Given the description of an element on the screen output the (x, y) to click on. 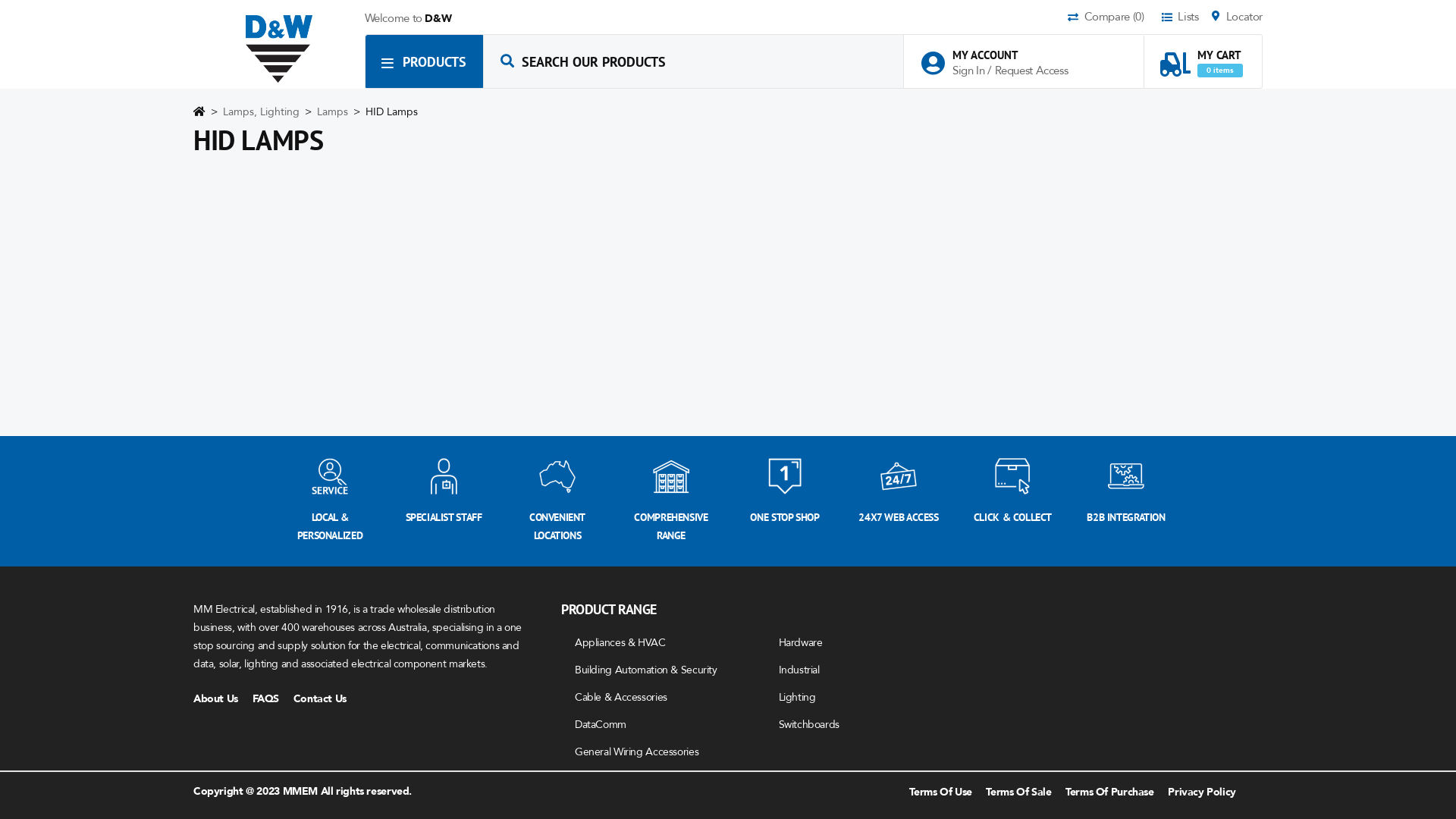
One stop shop Element type: hover (784, 476)
Search Element type: text (507, 60)
MY ACCOUNT Element type: text (1001, 54)
General Wiring Accessories Element type: text (636, 751)
Lists Element type: text (1184, 17)
Cable & Accessories Element type: text (620, 697)
Home Element type: text (199, 114)
About Us Element type: text (221, 698)
Sign In Element type: text (969, 70)
Terms Of Purchase Element type: text (1109, 791)
Appliances & HVAC Element type: text (619, 642)
Industrial Element type: text (798, 669)
Hardware Element type: text (800, 642)
Locator Element type: text (1236, 17)
Click & Collect Element type: hover (1012, 476)
Building Automation & Security Element type: text (645, 669)
MY CART
0 items Element type: text (1200, 55)
D&W Electrical Element type: hover (278, 49)
Lamps Element type: text (333, 111)
Switchboards Element type: text (808, 724)
Convenient locations Element type: hover (557, 476)
Terms Of Use Element type: text (940, 791)
Terms Of Sale Element type: text (1018, 791)
Lighting Element type: text (796, 697)
Specialist staff Element type: hover (443, 476)
Local & Personalized Element type: hover (329, 476)
Request Access Element type: text (1031, 70)
D&W Electrical Element type: hover (278, 49)
DataComm Element type: text (600, 724)
Privacy Policy Element type: text (1201, 791)
Lamps, Lighting Element type: text (262, 111)
B2B integration Element type: hover (1125, 476)
24x7 Web Access Element type: hover (898, 476)
FAQS Element type: text (271, 698)
Contact Us Element type: text (325, 698)
Comprehensive range Element type: hover (670, 476)
Compare 0 Element type: text (1112, 17)
